Given the description of an element on the screen output the (x, y) to click on. 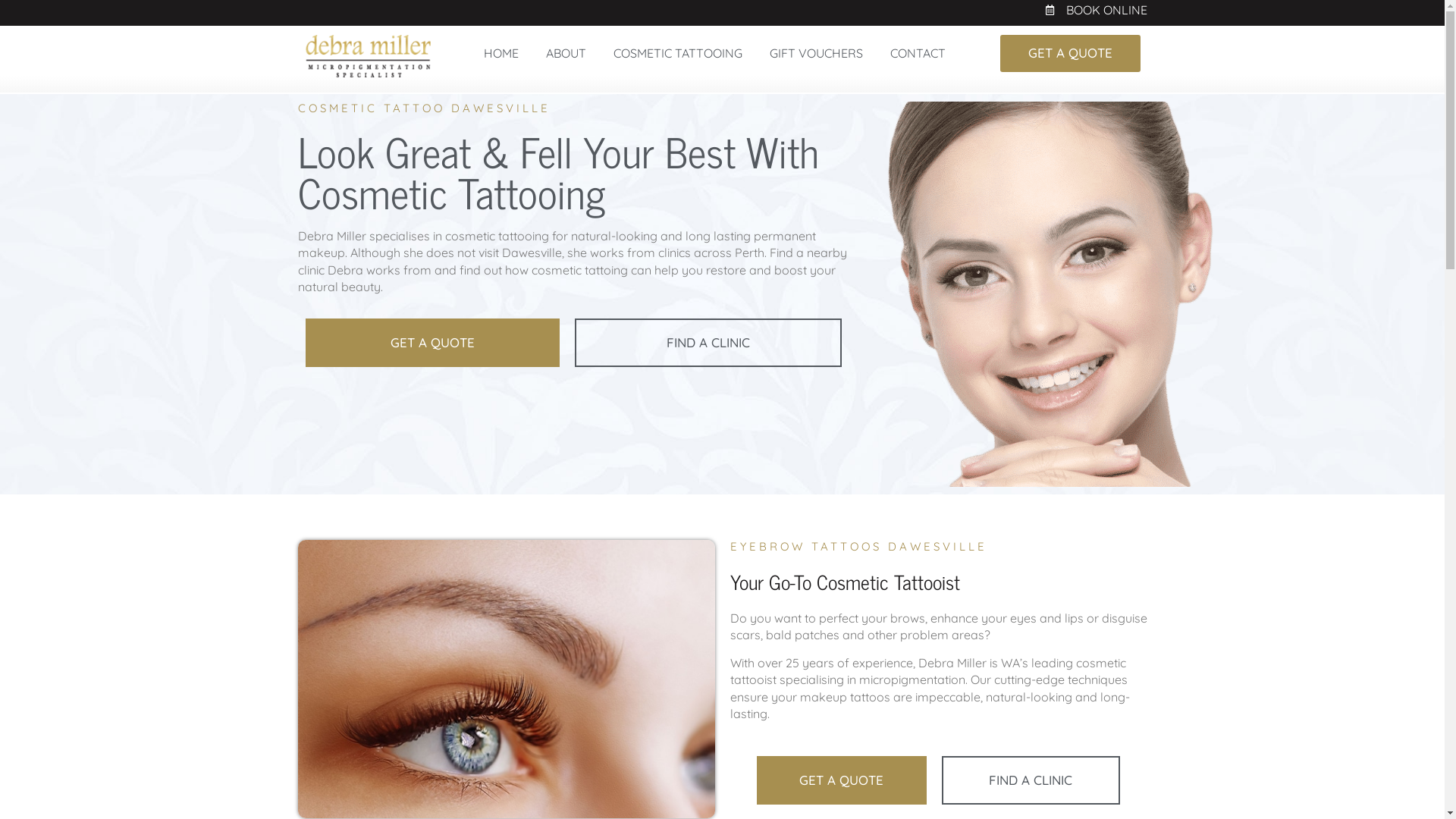
FIND A CLINIC Element type: text (707, 342)
GET A QUOTE Element type: text (431, 342)
BOOK ONLINE Element type: text (721, 9)
GET A QUOTE Element type: text (841, 780)
ABOUT Element type: text (565, 52)
GET A QUOTE Element type: text (1070, 52)
HOME Element type: text (501, 52)
DebraMillerLogo Element type: hover (367, 55)
COSMETIC TATTOOING Element type: text (677, 52)
GIFT VOUCHERS Element type: text (816, 52)
CONTACT Element type: text (917, 52)
FIND A CLINIC Element type: text (1030, 780)
